Given the description of an element on the screen output the (x, y) to click on. 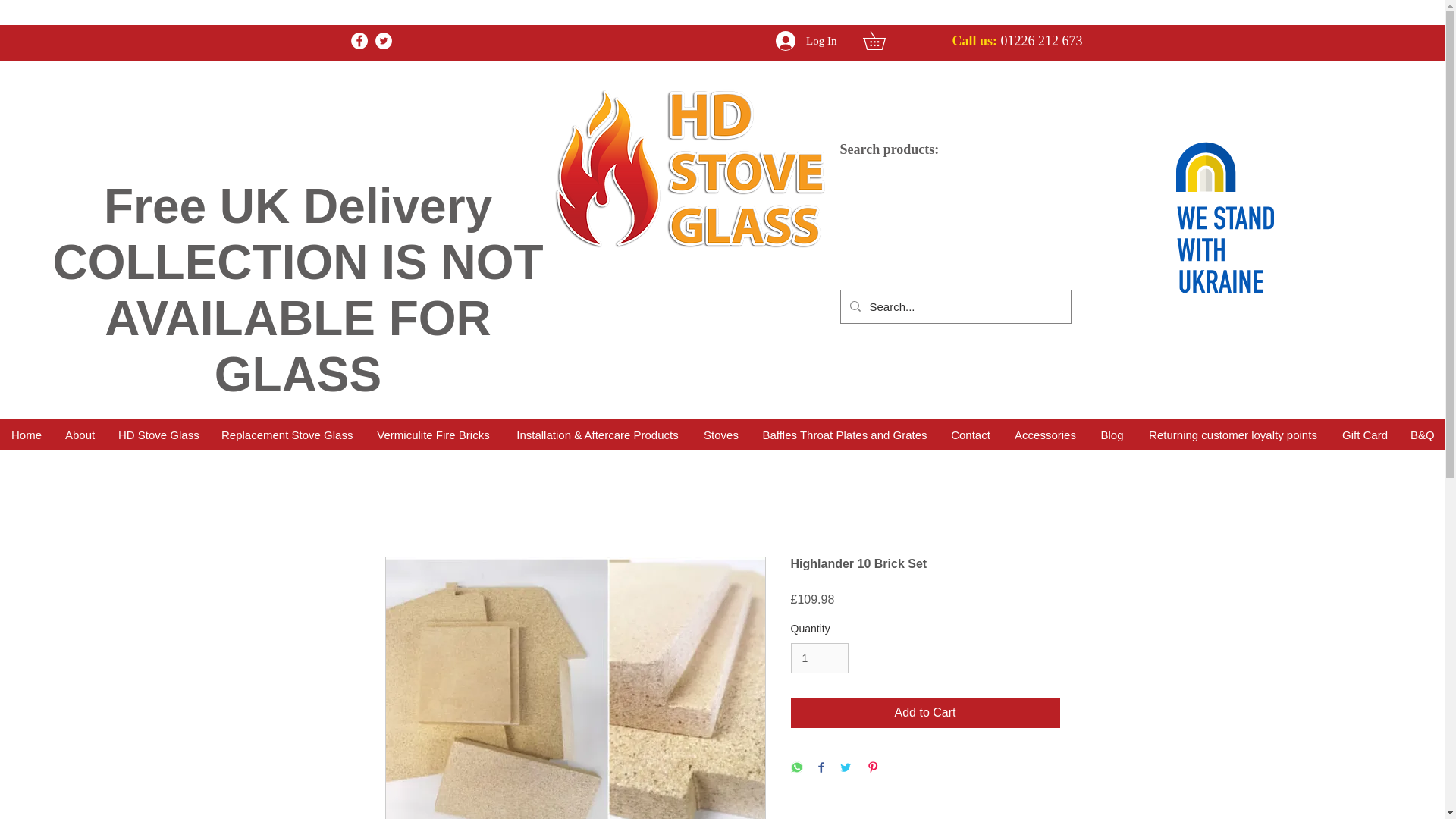
1 (818, 658)
Baffles Throat Plates and Grates (844, 434)
Call us: 01226 212 673 (1016, 40)
Stoves (720, 434)
Accessories (1044, 434)
Add to Cart (924, 712)
Log In (806, 40)
Gift Card (1363, 434)
Returning customer loyalty points (1232, 434)
Vermiculite Fire Bricks (432, 434)
About (79, 434)
Blog (1111, 434)
Contact (970, 434)
Replacement Stove Glass (285, 434)
HD Stove Glass (157, 434)
